Given the description of an element on the screen output the (x, y) to click on. 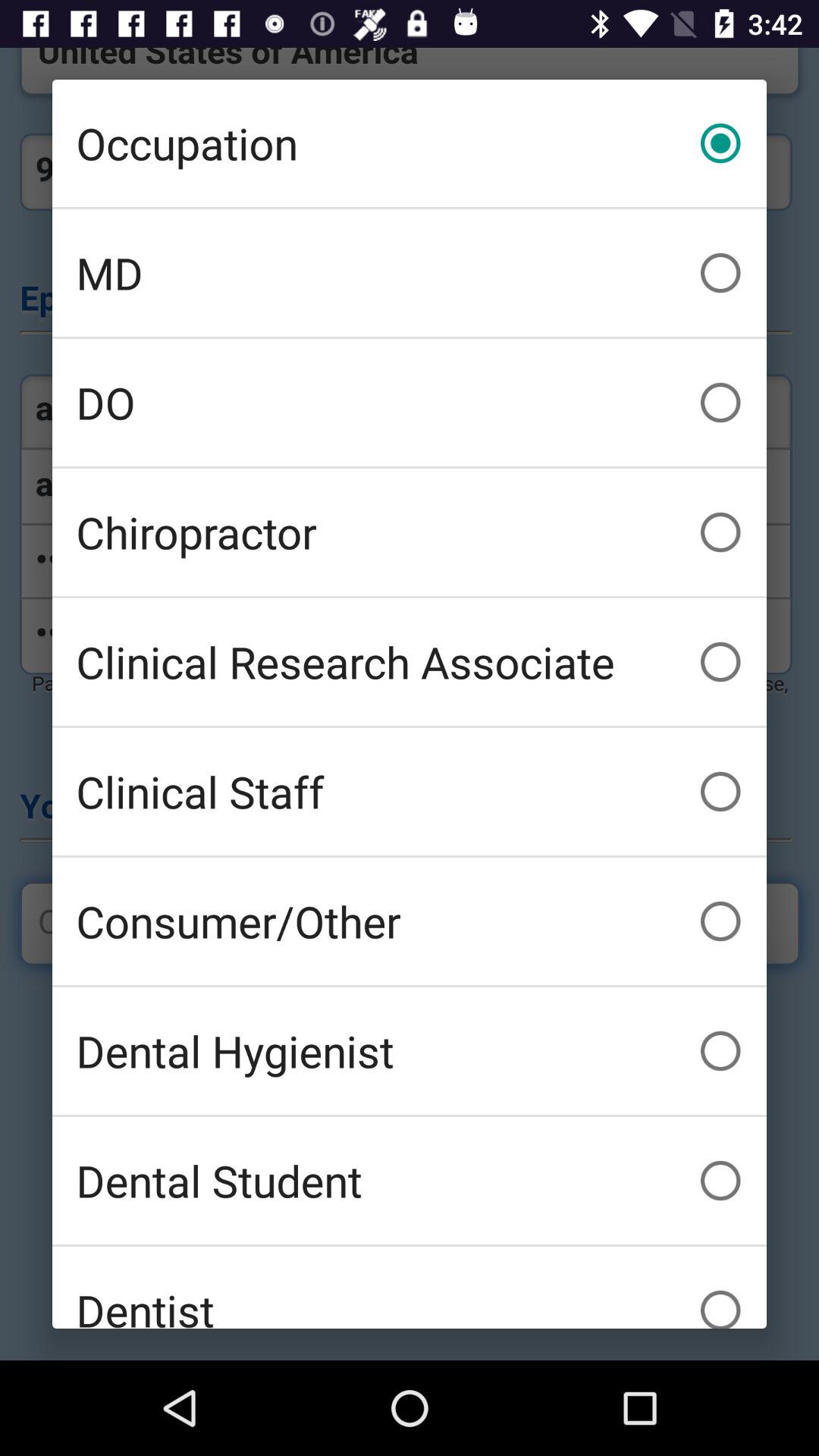
open icon below the occupation item (409, 272)
